Given the description of an element on the screen output the (x, y) to click on. 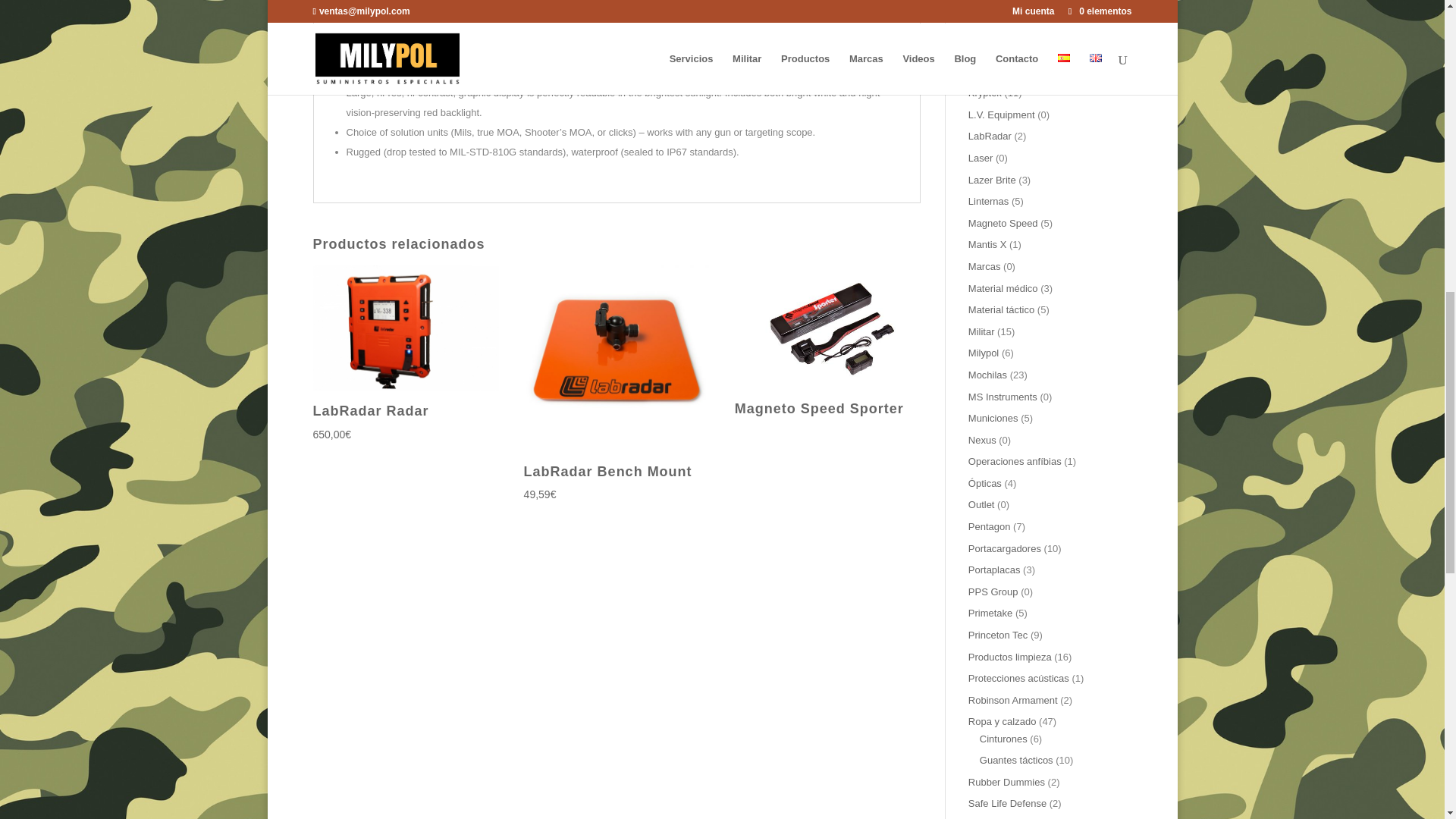
iOS (555, 52)
 LiNK Dongle (595, 23)
Android (508, 52)
Magneto Speed Sporter (828, 344)
